Given the description of an element on the screen output the (x, y) to click on. 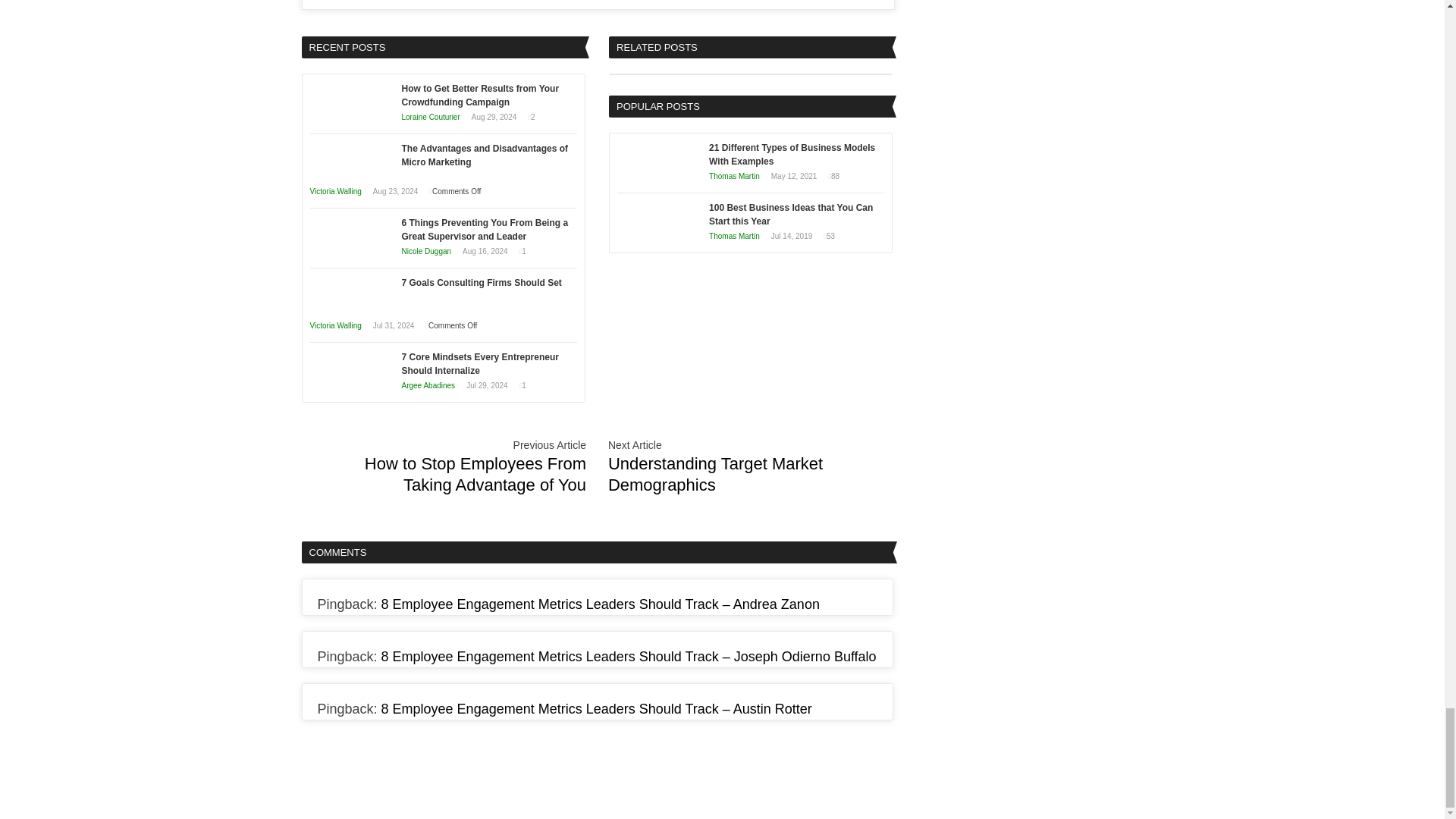
Posts by Victoria Walling (334, 191)
Posts by Argee Abadines (428, 385)
Posts by Loraine Couturier (430, 117)
Posts by Thomas Martin (734, 235)
Posts by Nicole Duggan (426, 251)
Posts by Victoria Walling (334, 325)
Posts by Thomas Martin (734, 175)
